Given the description of an element on the screen output the (x, y) to click on. 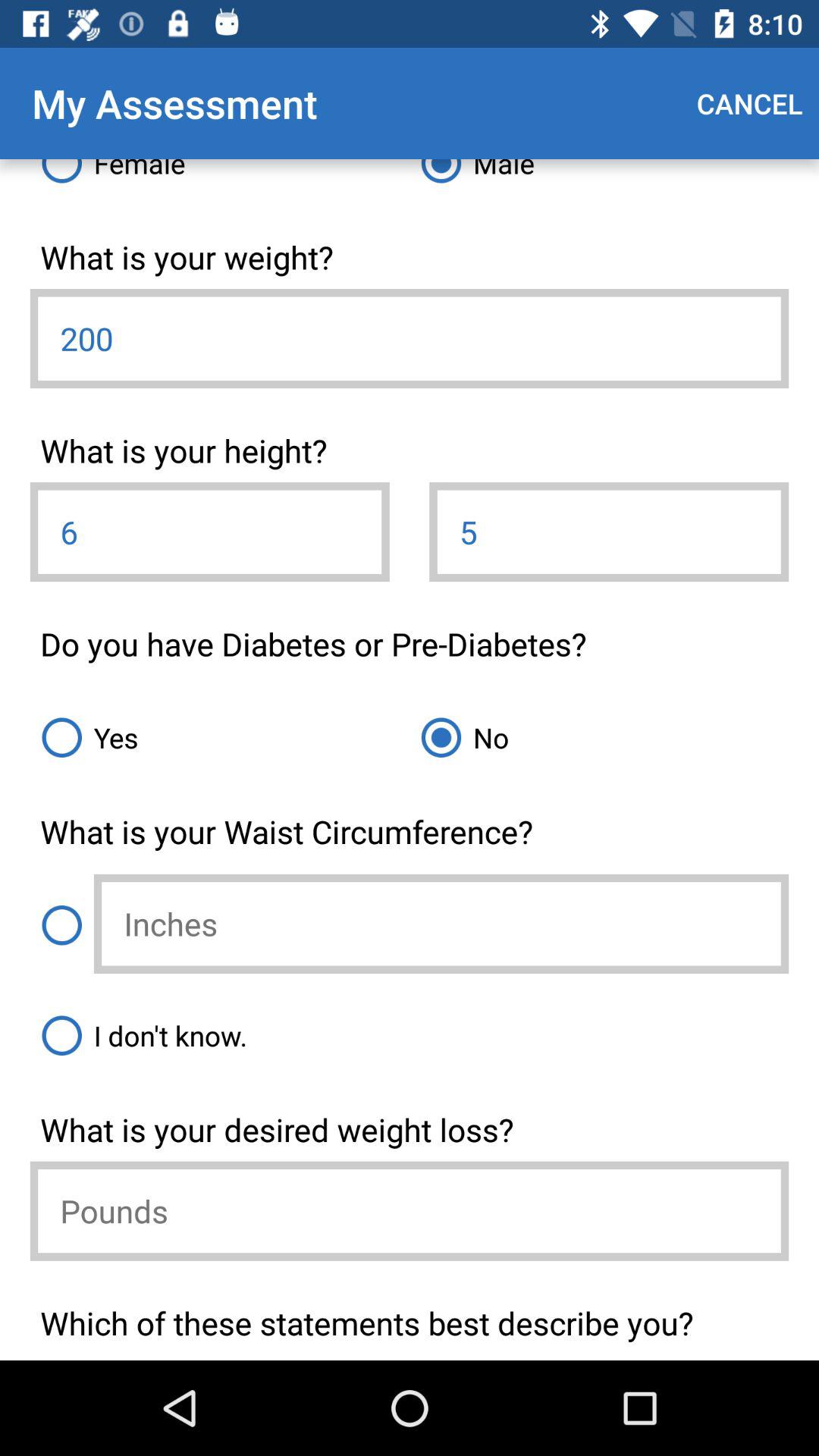
turn on icon above the do you have icon (209, 531)
